Given the description of an element on the screen output the (x, y) to click on. 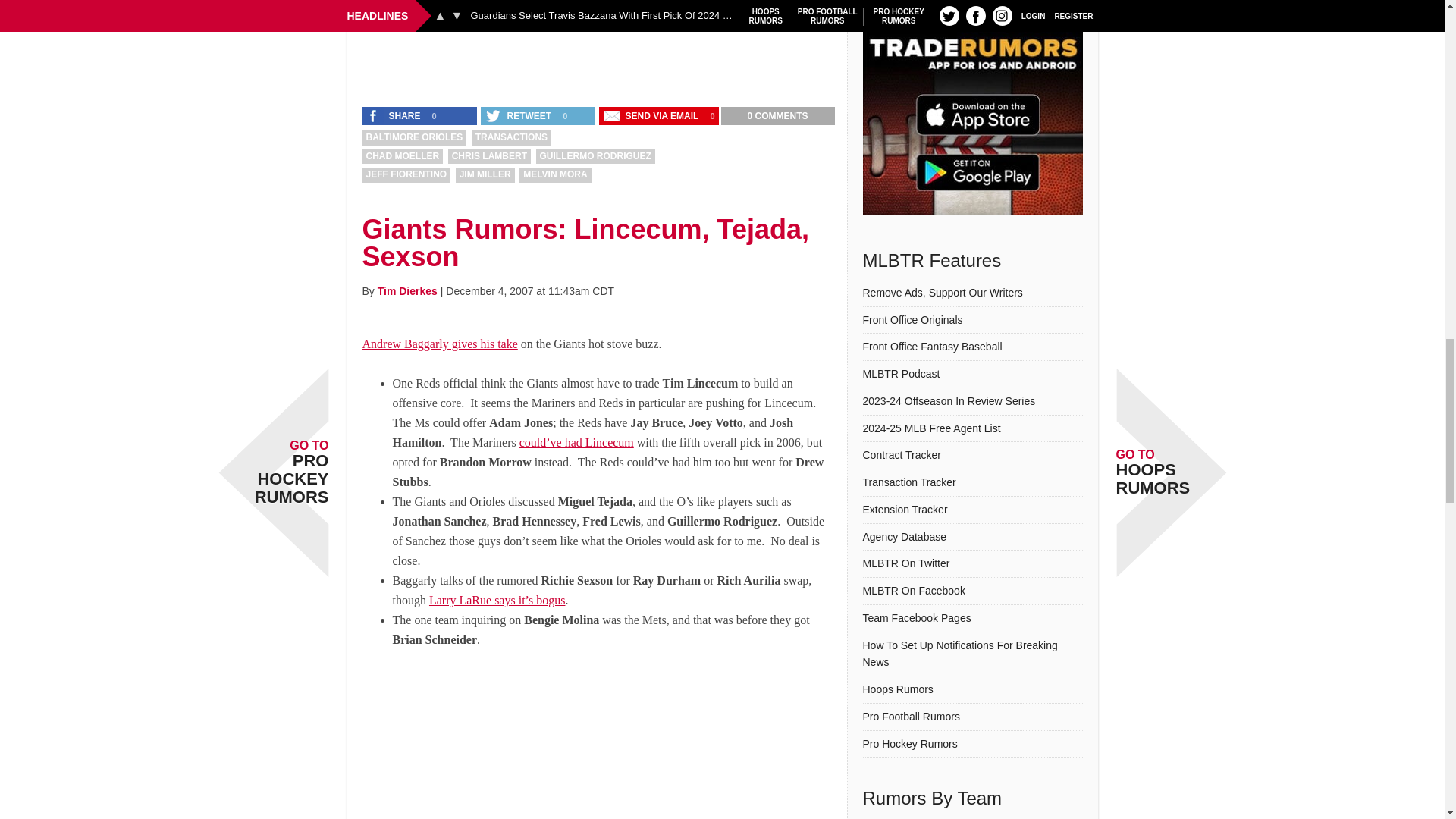
Send Orioles Roundup: Mora, Moeller, Datz with an email (652, 116)
Share 'Orioles Roundup: Mora, Moeller, Datz' on Facebook (395, 116)
Retweet 'Orioles Roundup: Mora, Moeller, Datz' on Twitter (519, 116)
